Given the description of an element on the screen output the (x, y) to click on. 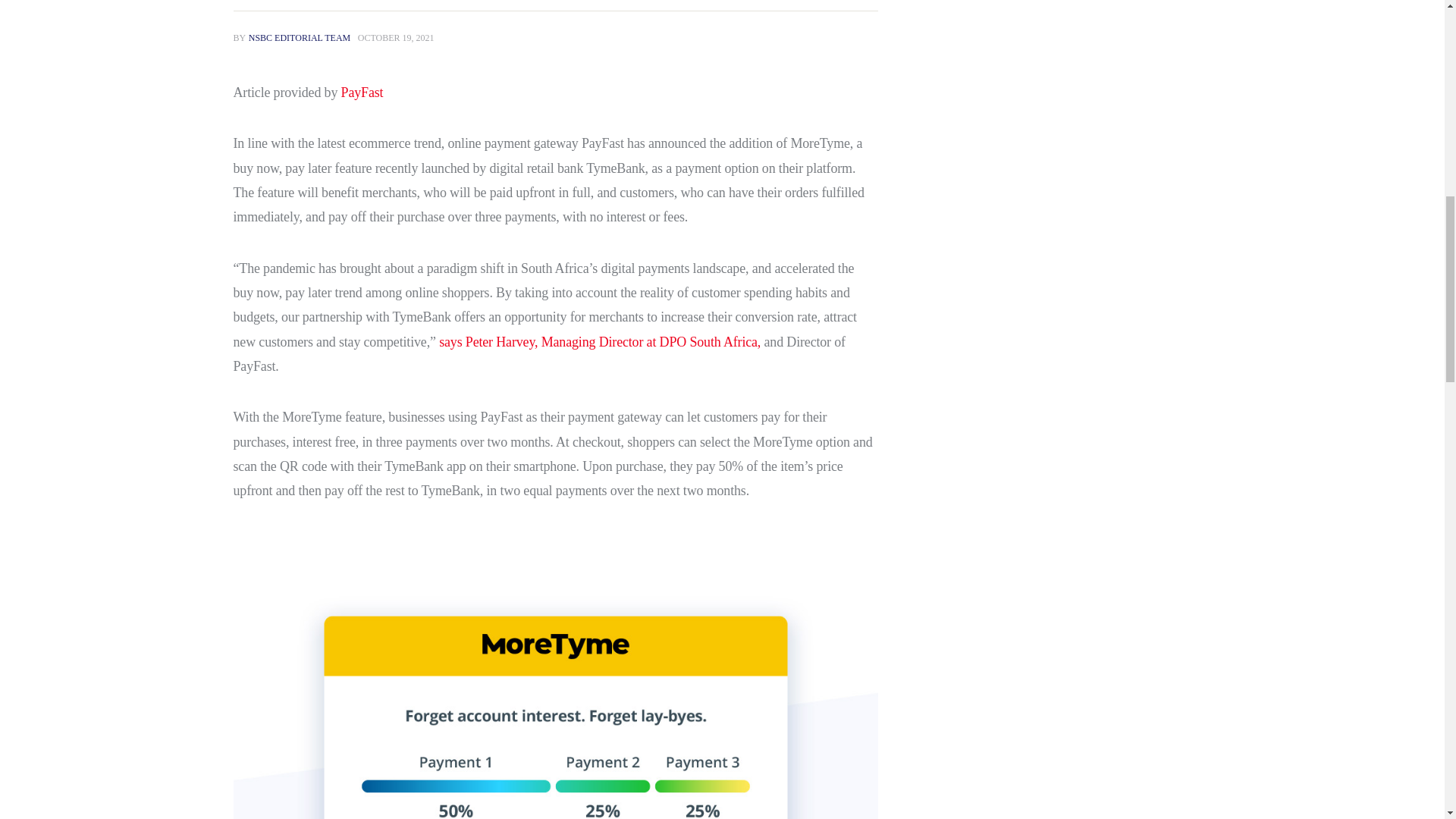
PayFast (362, 92)
 says Peter Harvey, Managing Director at DPO South Africa,  (599, 341)
